Given the description of an element on the screen output the (x, y) to click on. 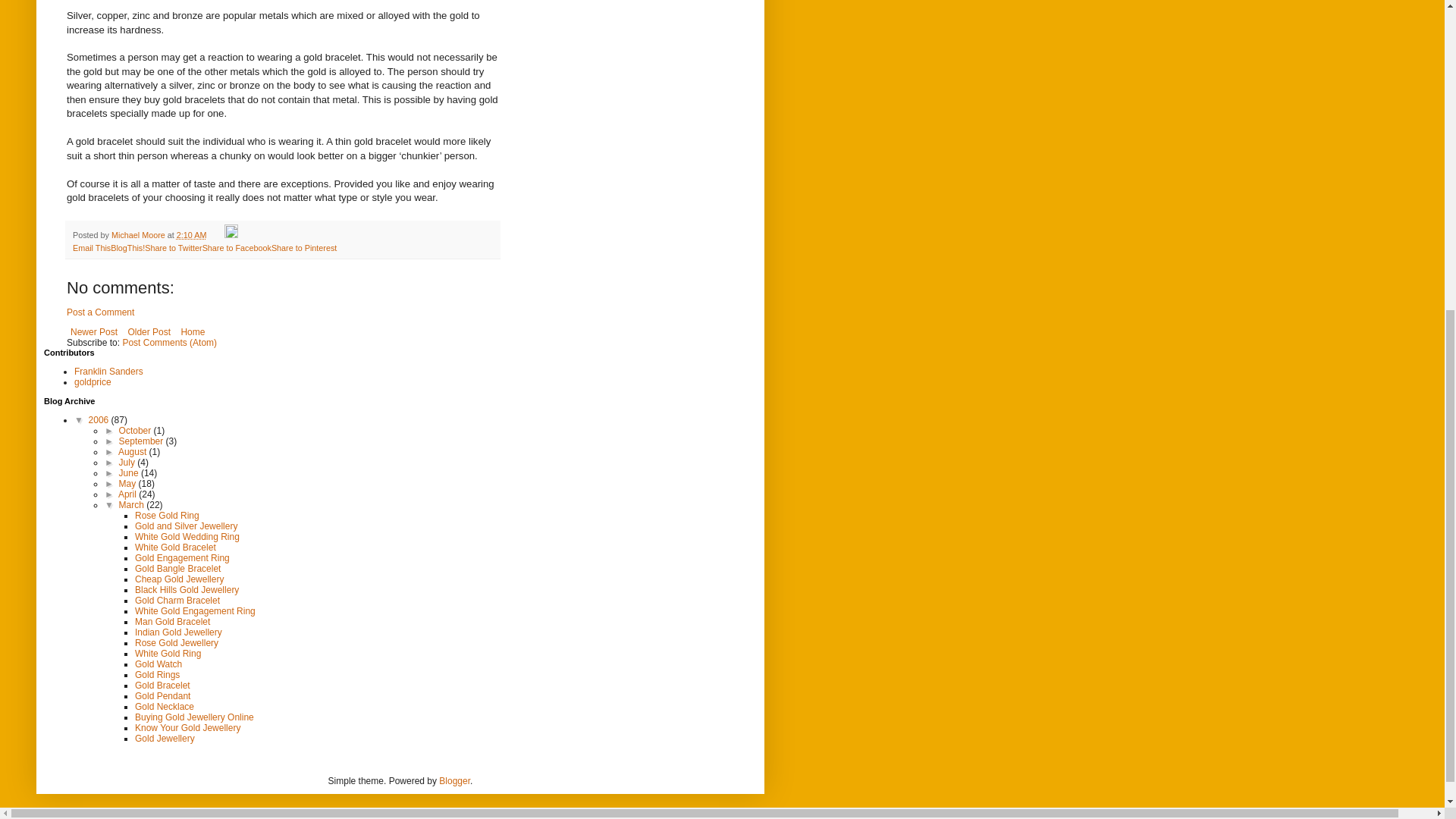
Share to Facebook (236, 247)
permanent link (191, 234)
Share to Pinterest (303, 247)
June (130, 472)
October (136, 430)
Share to Twitter (173, 247)
2:10 AM (191, 234)
Share to Facebook (236, 247)
author profile (139, 234)
Newer Post (93, 331)
July (128, 462)
Post a Comment (99, 312)
Edit Post (231, 234)
April (127, 493)
March (133, 504)
